Given the description of an element on the screen output the (x, y) to click on. 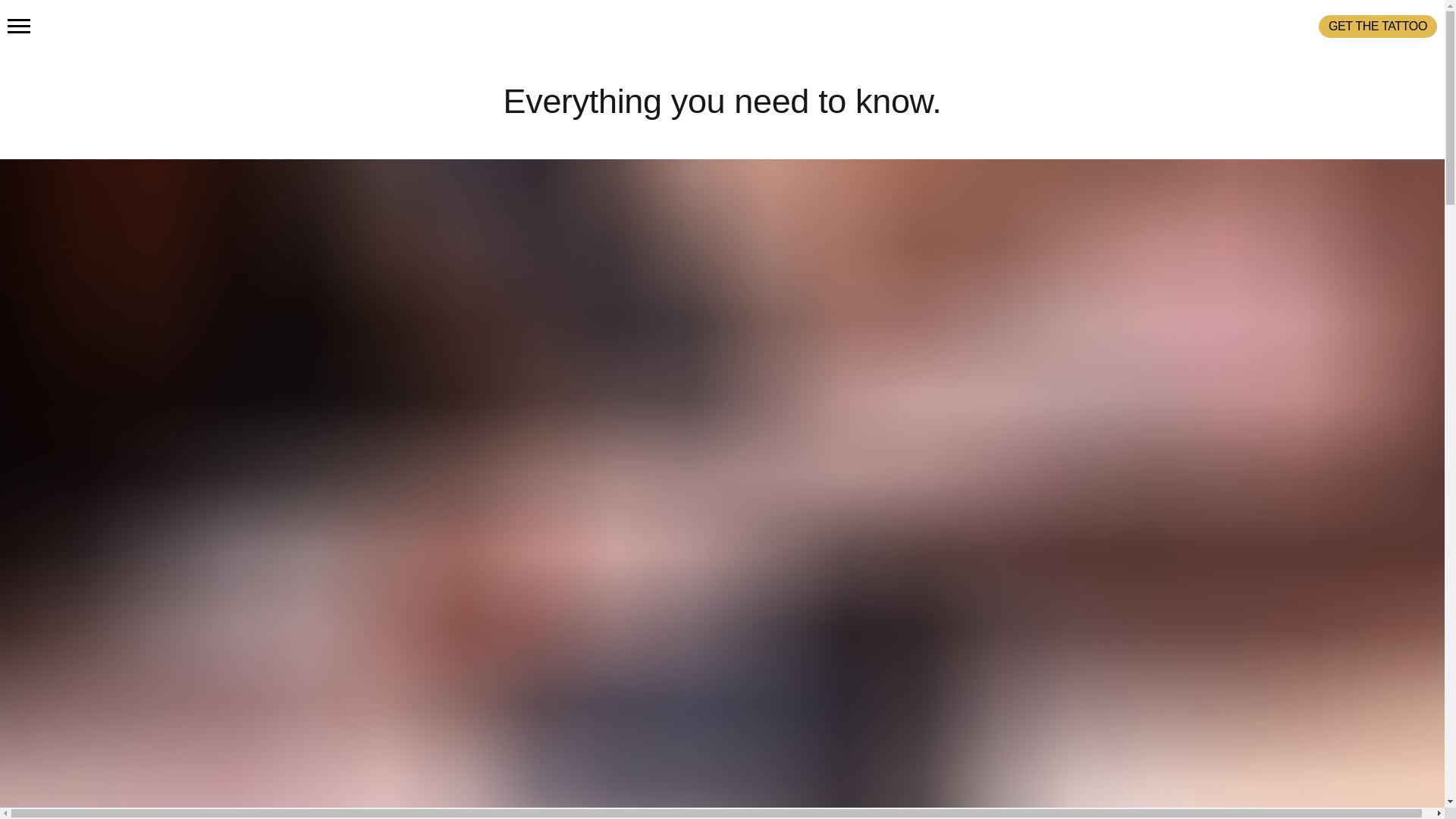
GET THE TATTOO (1378, 26)
